Given the description of an element on the screen output the (x, y) to click on. 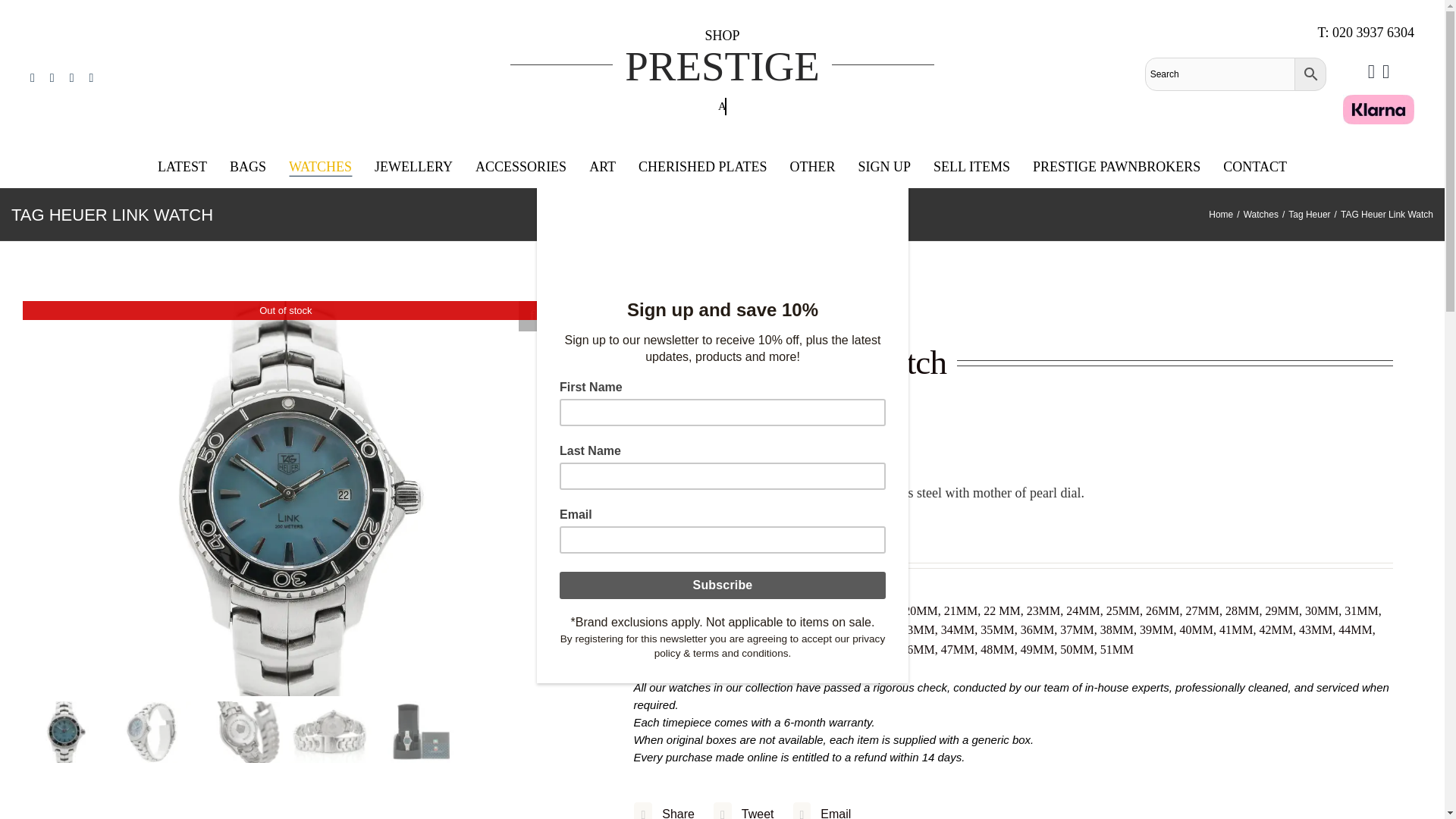
Tag Heuer (1309, 214)
WATCHES (320, 167)
SIGN UP (885, 167)
SELL ITEMS (971, 167)
ACCESSORIES (521, 167)
BAGS (248, 167)
Email (820, 808)
LATEST (181, 167)
CHERISHED PLATES (703, 167)
ART (602, 167)
Home (1220, 214)
OTHER (812, 167)
PRESTIGE PAWNBROKERS (1115, 167)
020 3937 6304 (1372, 32)
